Given the description of an element on the screen output the (x, y) to click on. 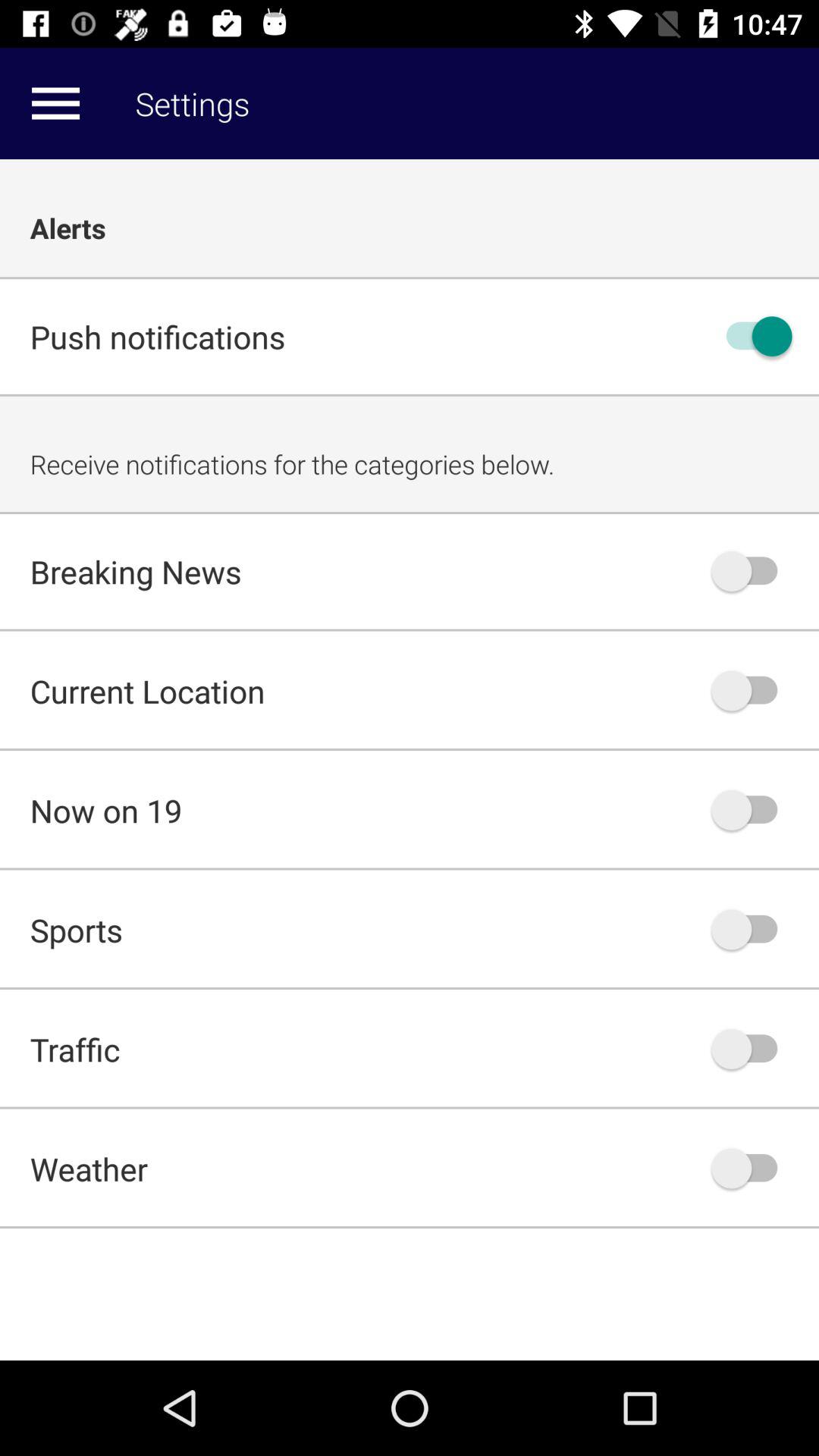
toggle traffic alerts (751, 1049)
